Given the description of an element on the screen output the (x, y) to click on. 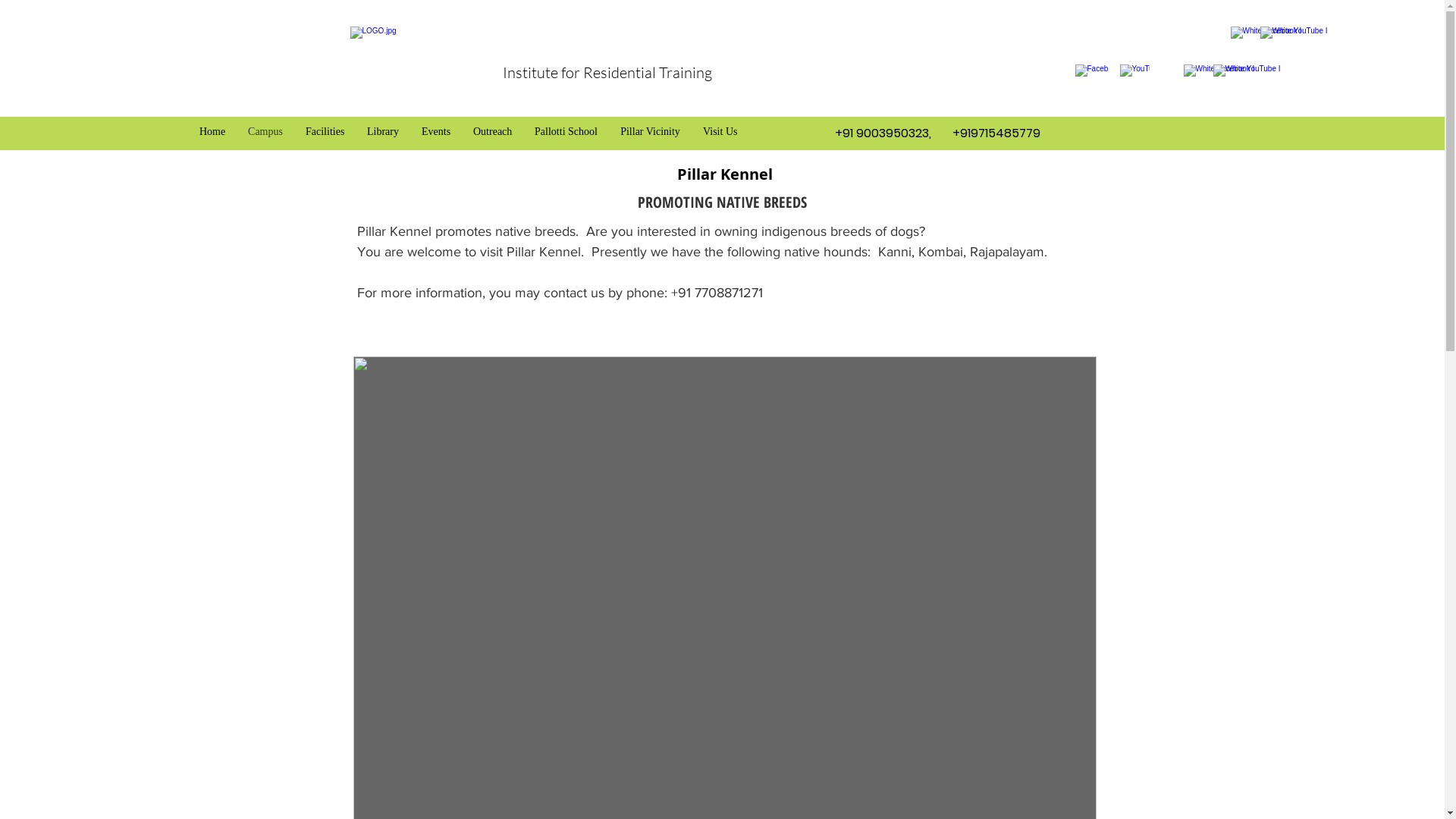
Facilities Element type: text (324, 131)
Campus Element type: text (265, 131)
Outreach Element type: text (492, 131)
Pillar Vicinity Element type: text (649, 131)
Pallotti School Element type: text (565, 131)
Home Element type: text (212, 131)
Events Element type: text (435, 131)
Library Element type: text (382, 131)
Visit Us Element type: text (719, 131)
